Given the description of an element on the screen output the (x, y) to click on. 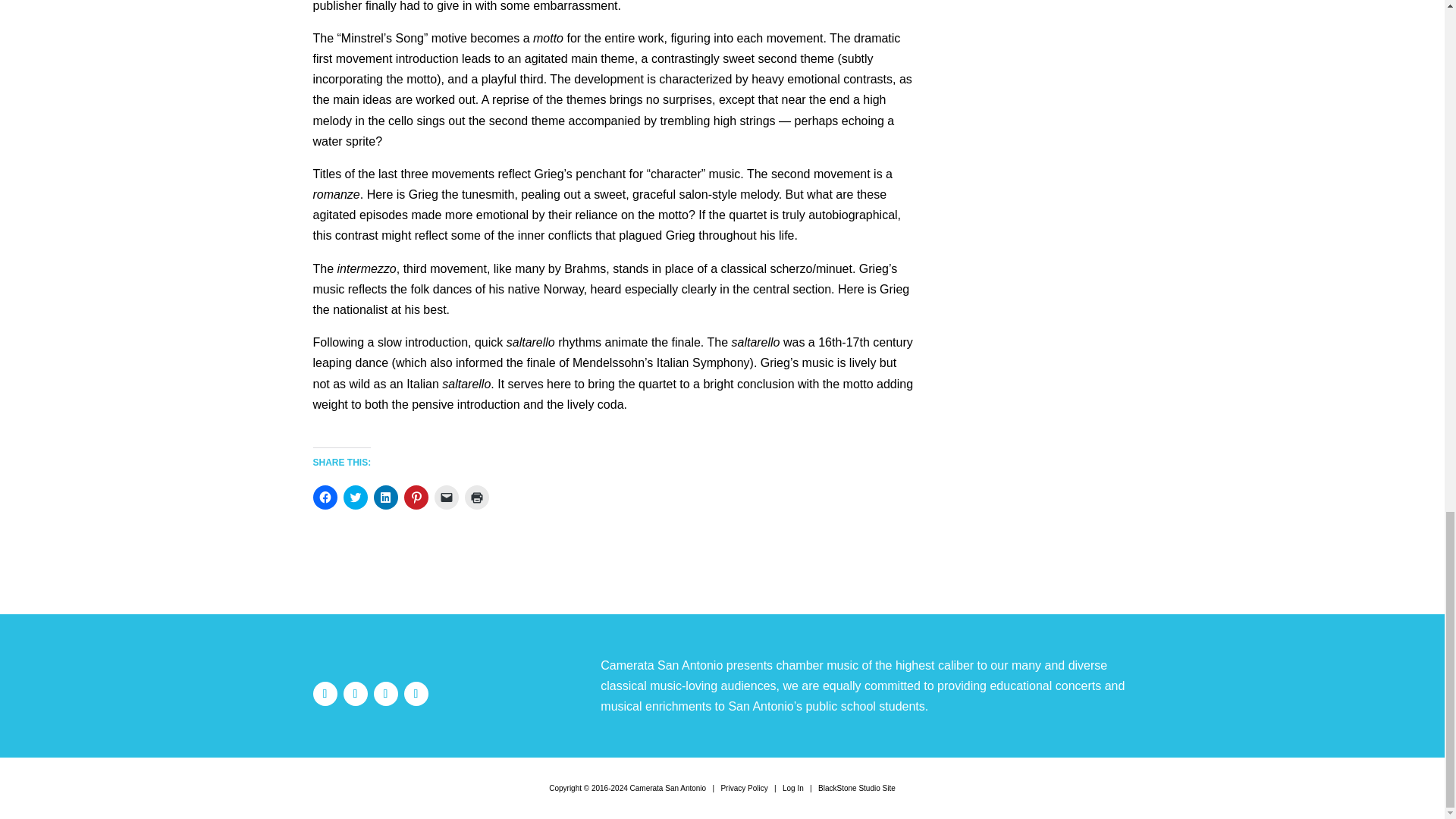
Follow on Facebook (325, 693)
Follow (325, 693)
Click to print (475, 497)
Follow on X (385, 693)
Graphic and Web Design in San Antonio (856, 787)
Click to share on LinkedIn (384, 497)
Privacy Policy (743, 787)
Follow (385, 693)
Click to share on Facebook (324, 497)
Log In (793, 787)
Follow on Instagram (355, 693)
Follow on Youtube (416, 693)
Follow (355, 693)
Click to email a link to a friend (445, 497)
Click to share on Twitter (354, 497)
